Given the description of an element on the screen output the (x, y) to click on. 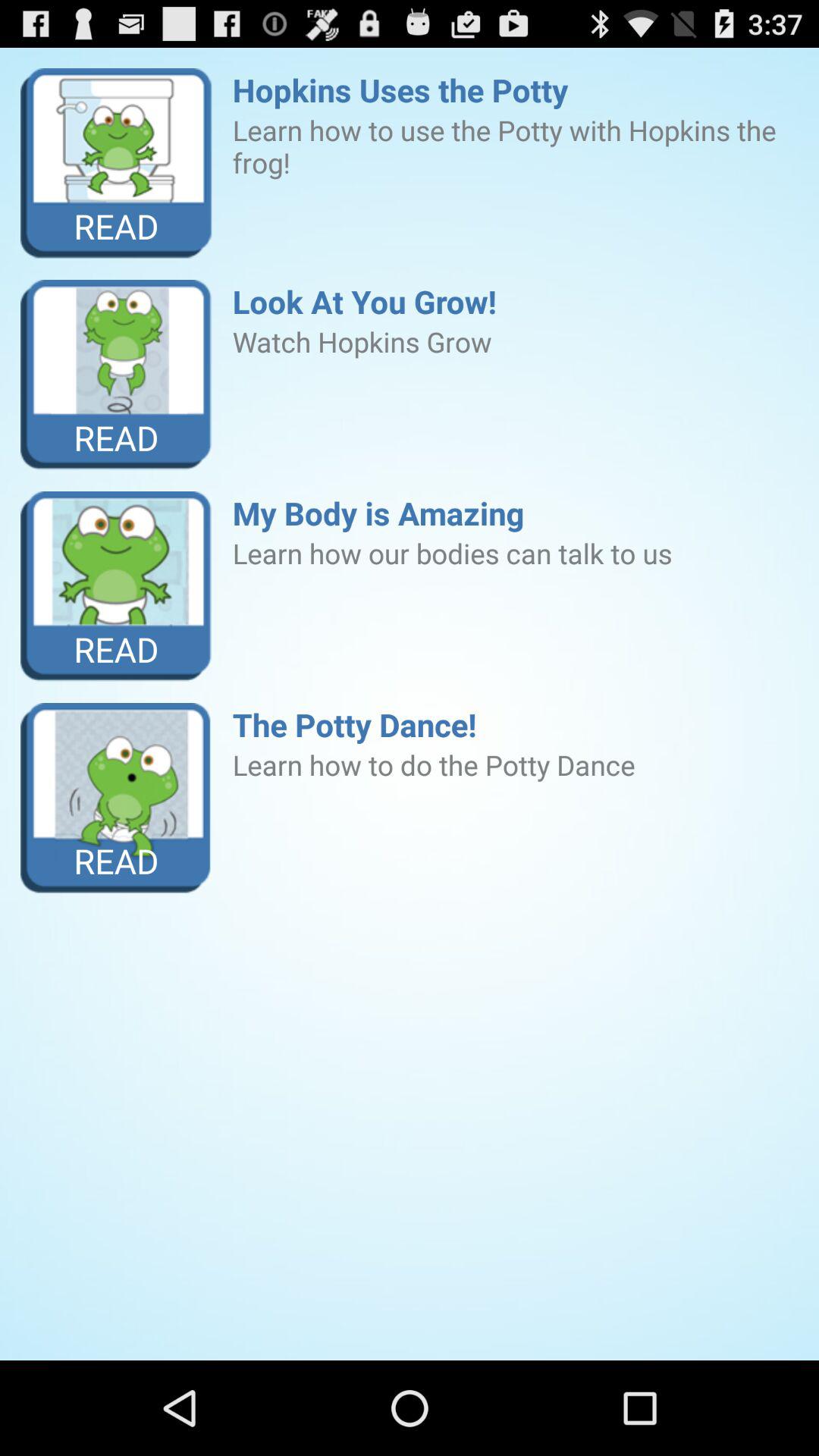
tap icon to the left of the hopkins uses the icon (116, 163)
